Given the description of an element on the screen output the (x, y) to click on. 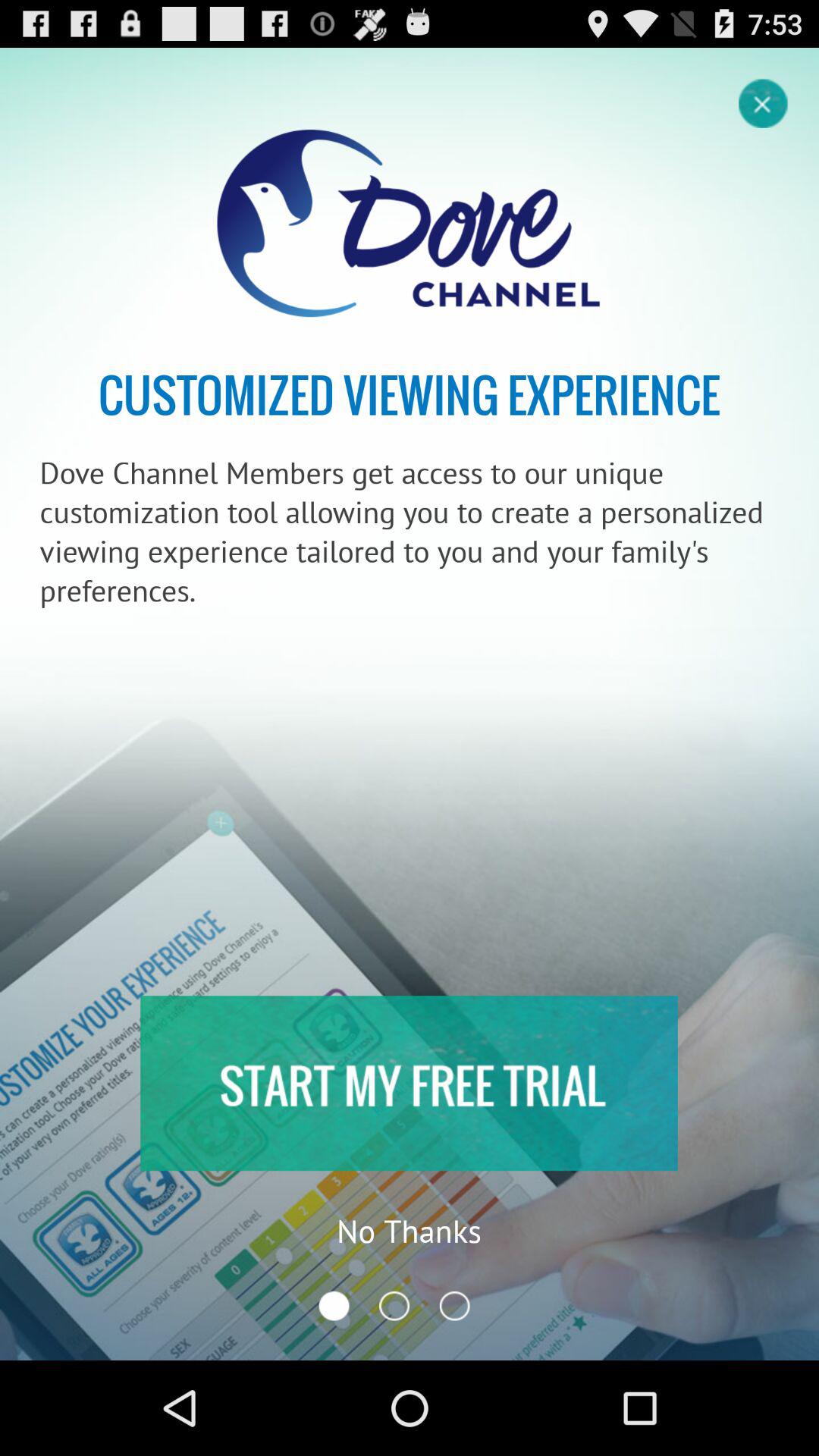
close screen (763, 102)
